Given the description of an element on the screen output the (x, y) to click on. 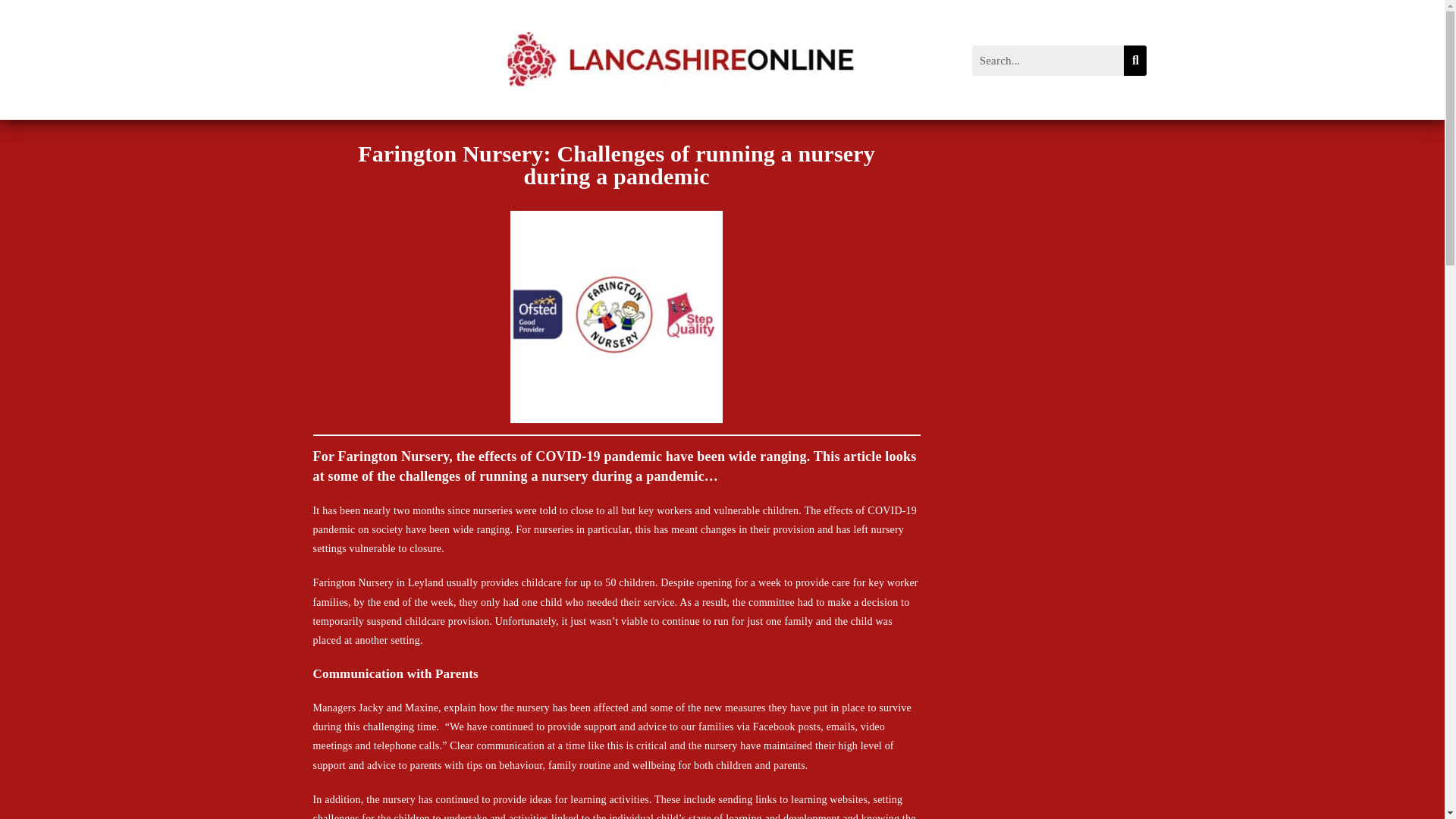
Farington Nursery (353, 582)
Search (1048, 60)
Leyland (425, 582)
